Given the description of an element on the screen output the (x, y) to click on. 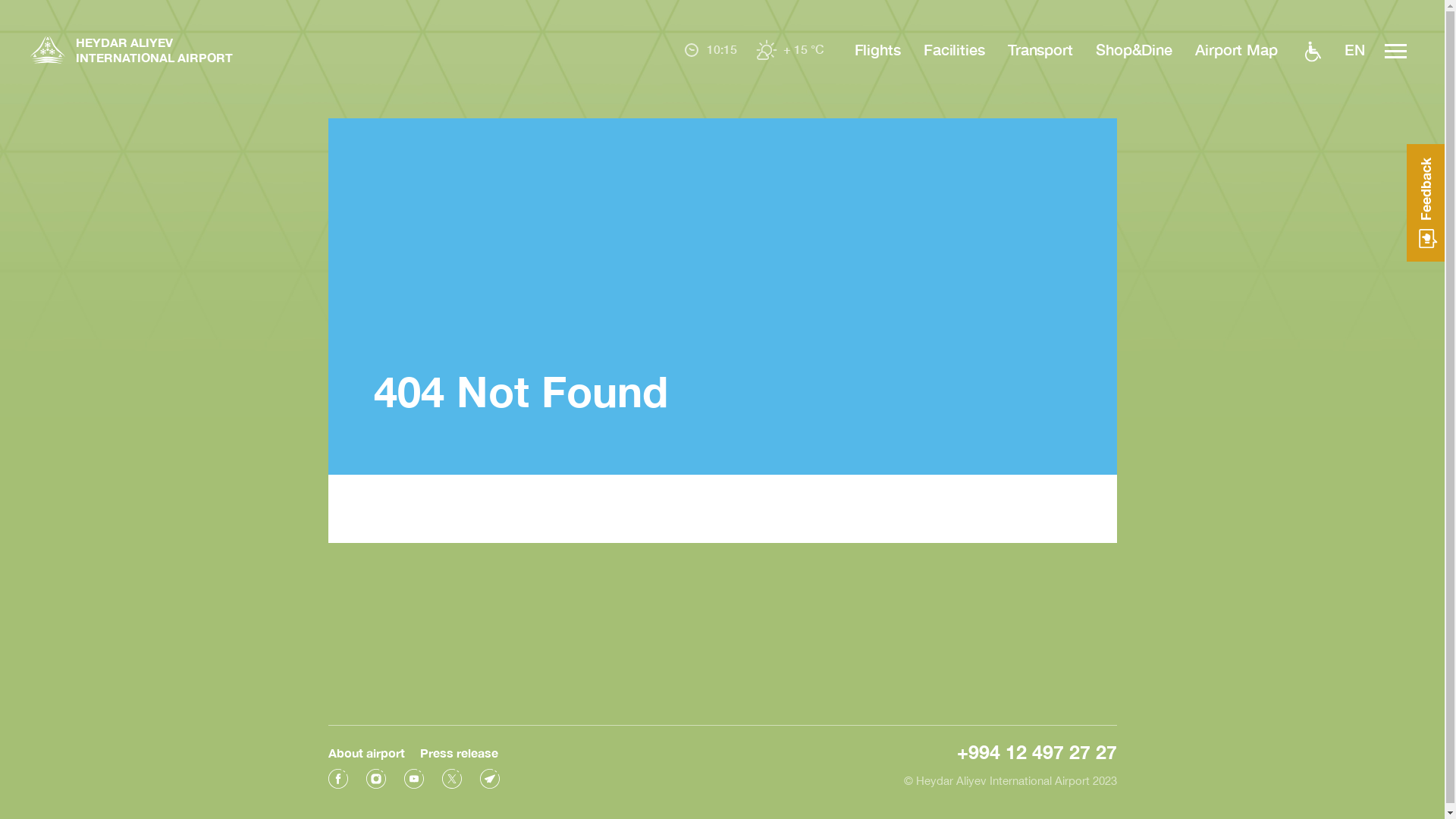
Flights Element type: text (877, 49)
Facilities Element type: text (954, 49)
Airport Map Element type: text (1236, 49)
About airport Element type: text (365, 752)
Feedback Element type: text (1425, 202)
HEYDAR ALIYEV
INTERNATIONAL AIRPORT Element type: text (131, 51)
EN Element type: text (1354, 50)
Shop&Dine Element type: text (1133, 49)
+994 12 497 27 27 Element type: text (1037, 751)
Transport Element type: text (1040, 49)
Press release Element type: text (459, 752)
